Given the description of an element on the screen output the (x, y) to click on. 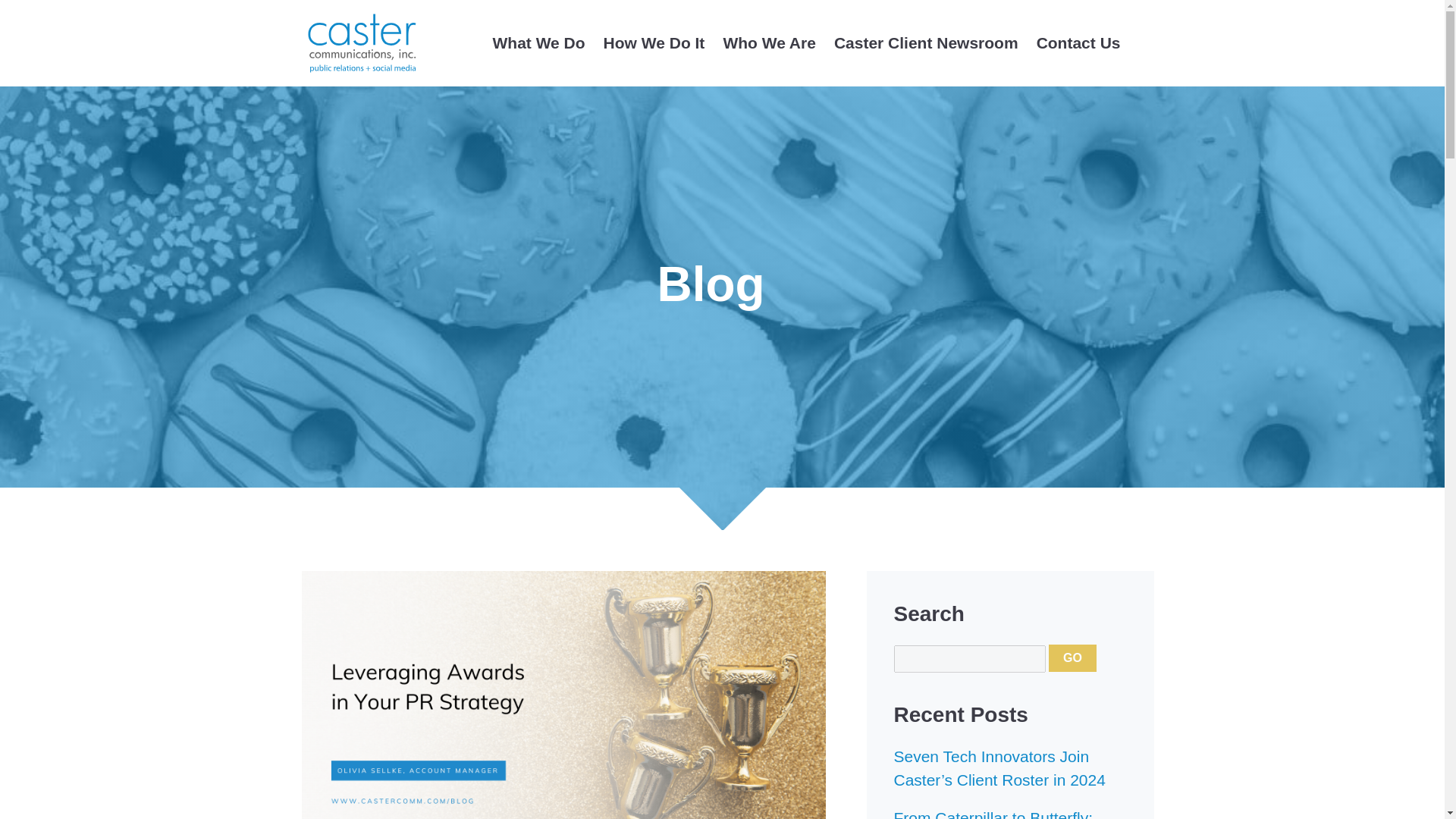
How We Do It (654, 43)
Who We Are (769, 43)
Contact Us (1078, 43)
What We Do (538, 43)
GO (1072, 657)
Caster Client Newsroom (926, 43)
